Given the description of an element on the screen output the (x, y) to click on. 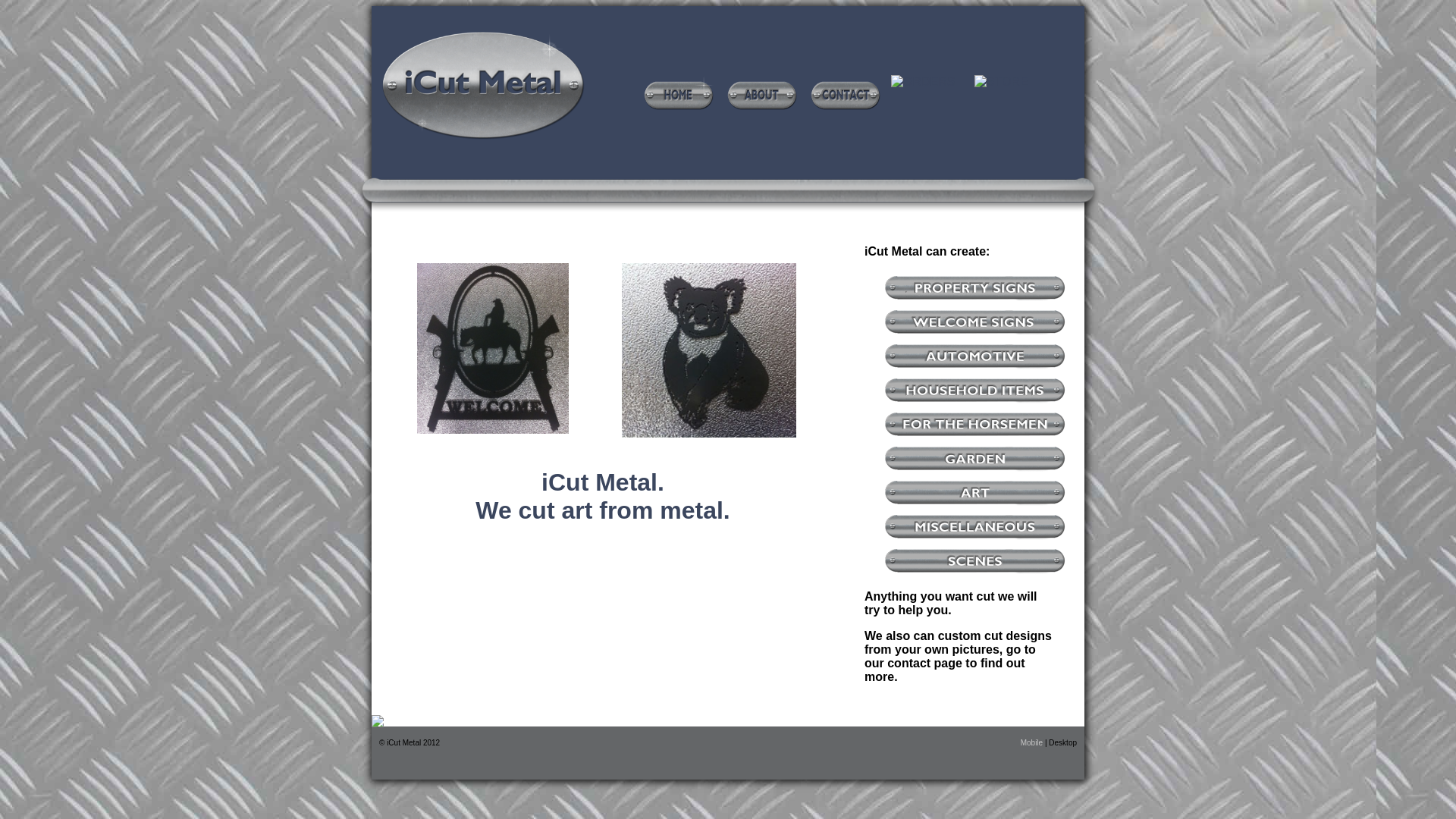
Mobile Element type: text (1032, 742)
